Given the description of an element on the screen output the (x, y) to click on. 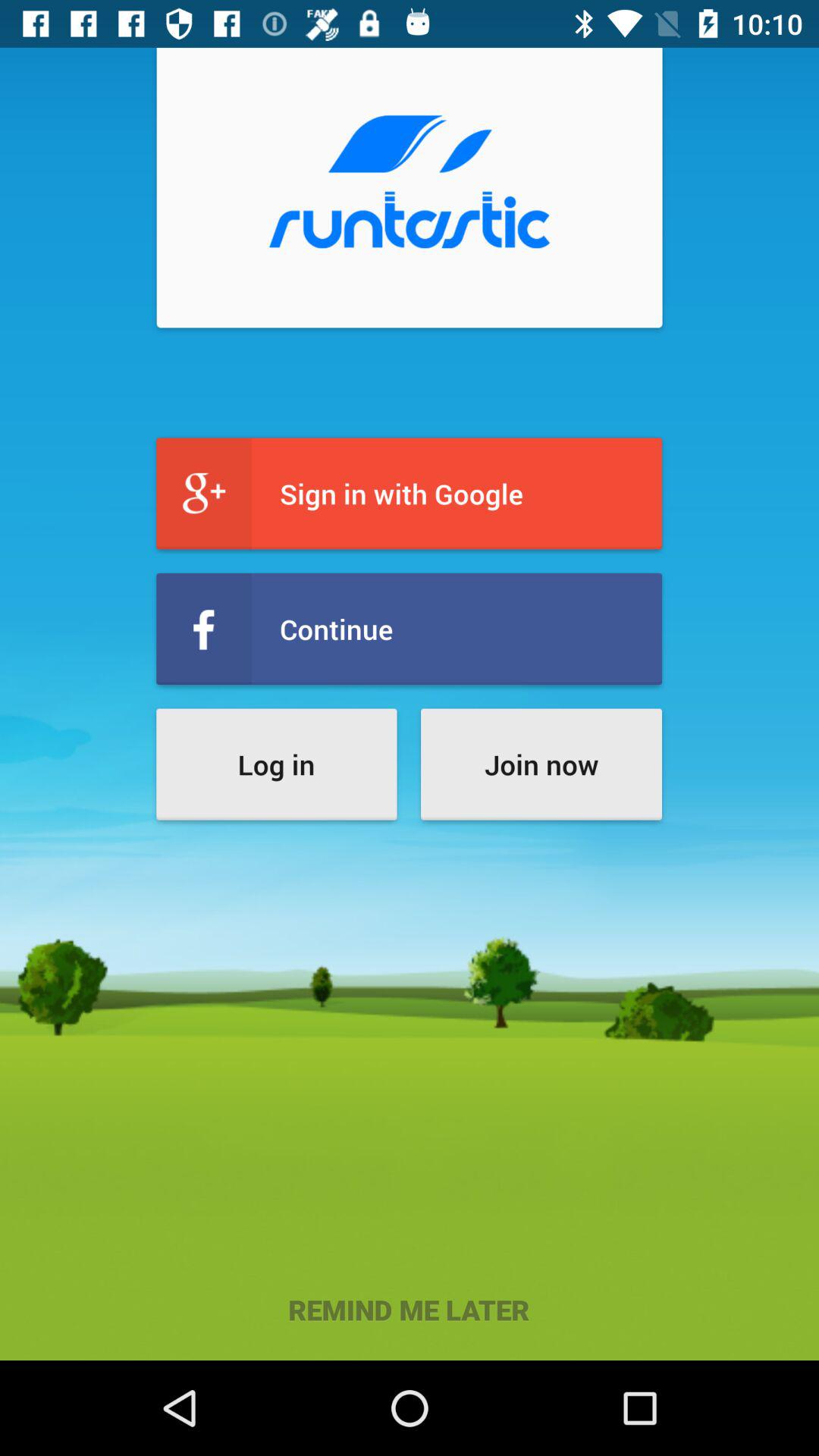
click continue icon (409, 628)
